Given the description of an element on the screen output the (x, y) to click on. 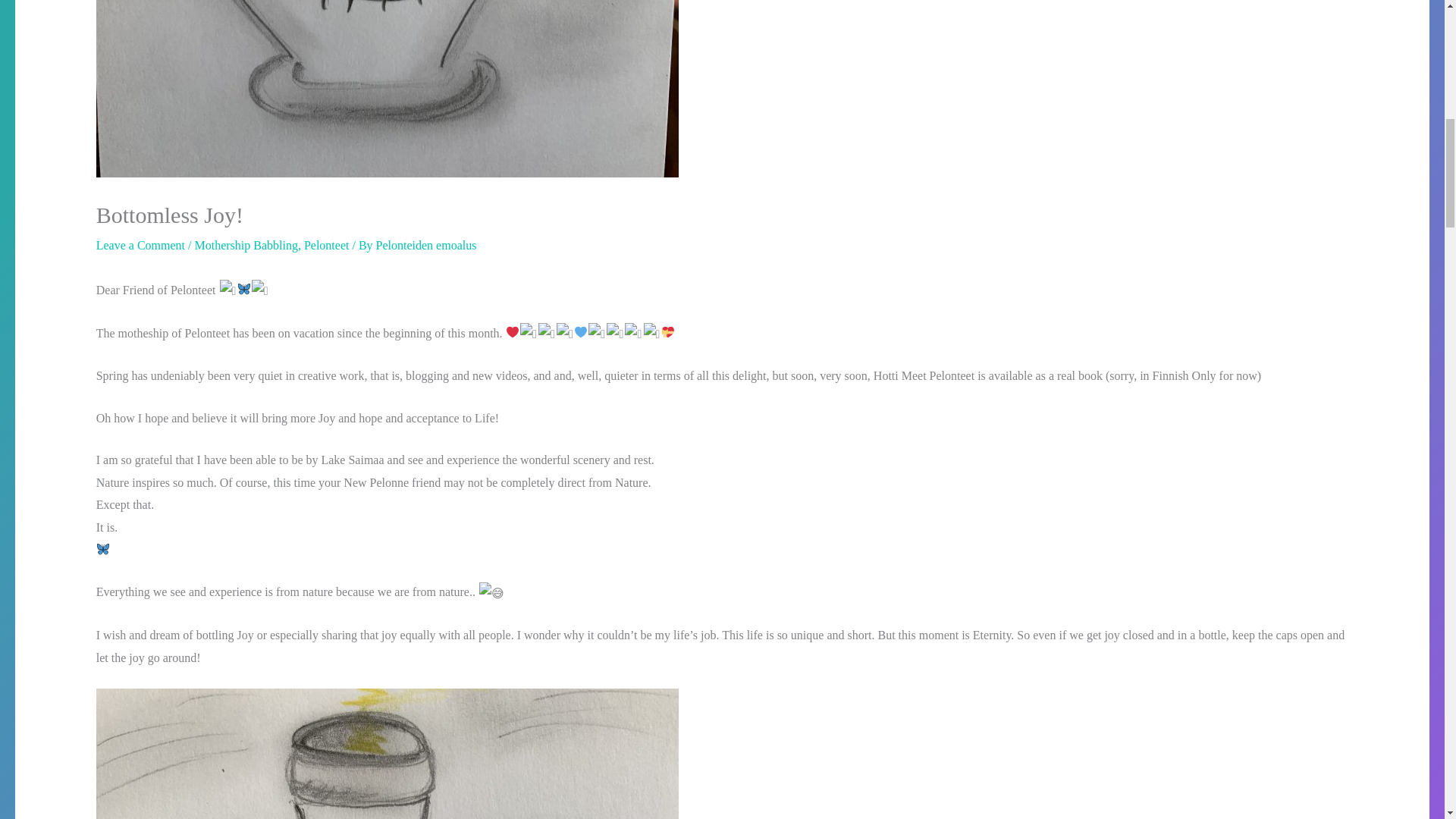
Pelonteiden emoalus (426, 245)
Mothership Babbling (245, 245)
View all posts by Pelonteiden emoalus (426, 245)
Pelonteet (326, 245)
Leave a Comment (140, 245)
